Given the description of an element on the screen output the (x, y) to click on. 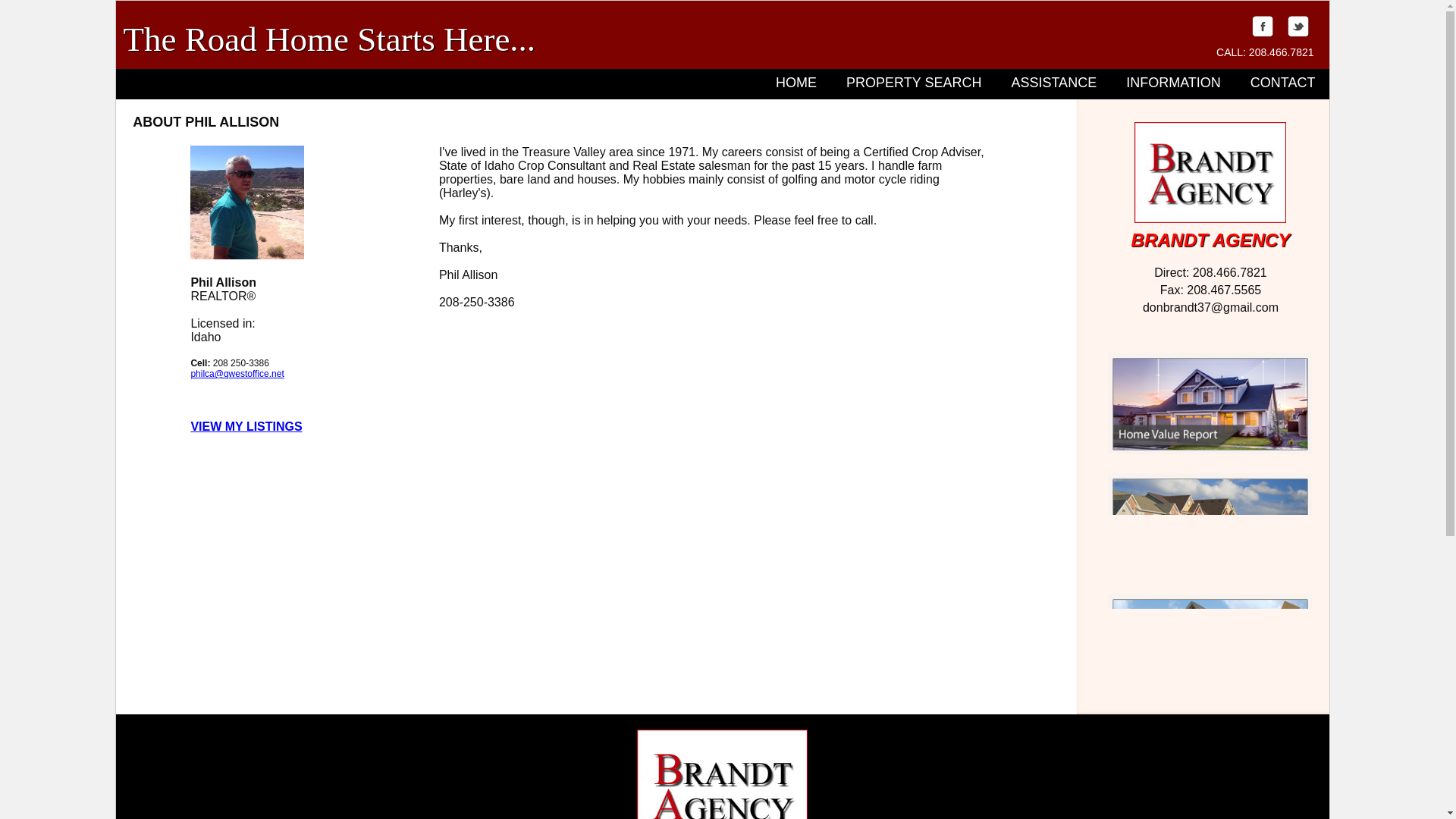
CONTACT (1283, 82)
ASSISTANCE (1053, 82)
INFORMATION (1173, 82)
HOME (796, 82)
PROPERTY SEARCH (913, 82)
